Given the description of an element on the screen output the (x, y) to click on. 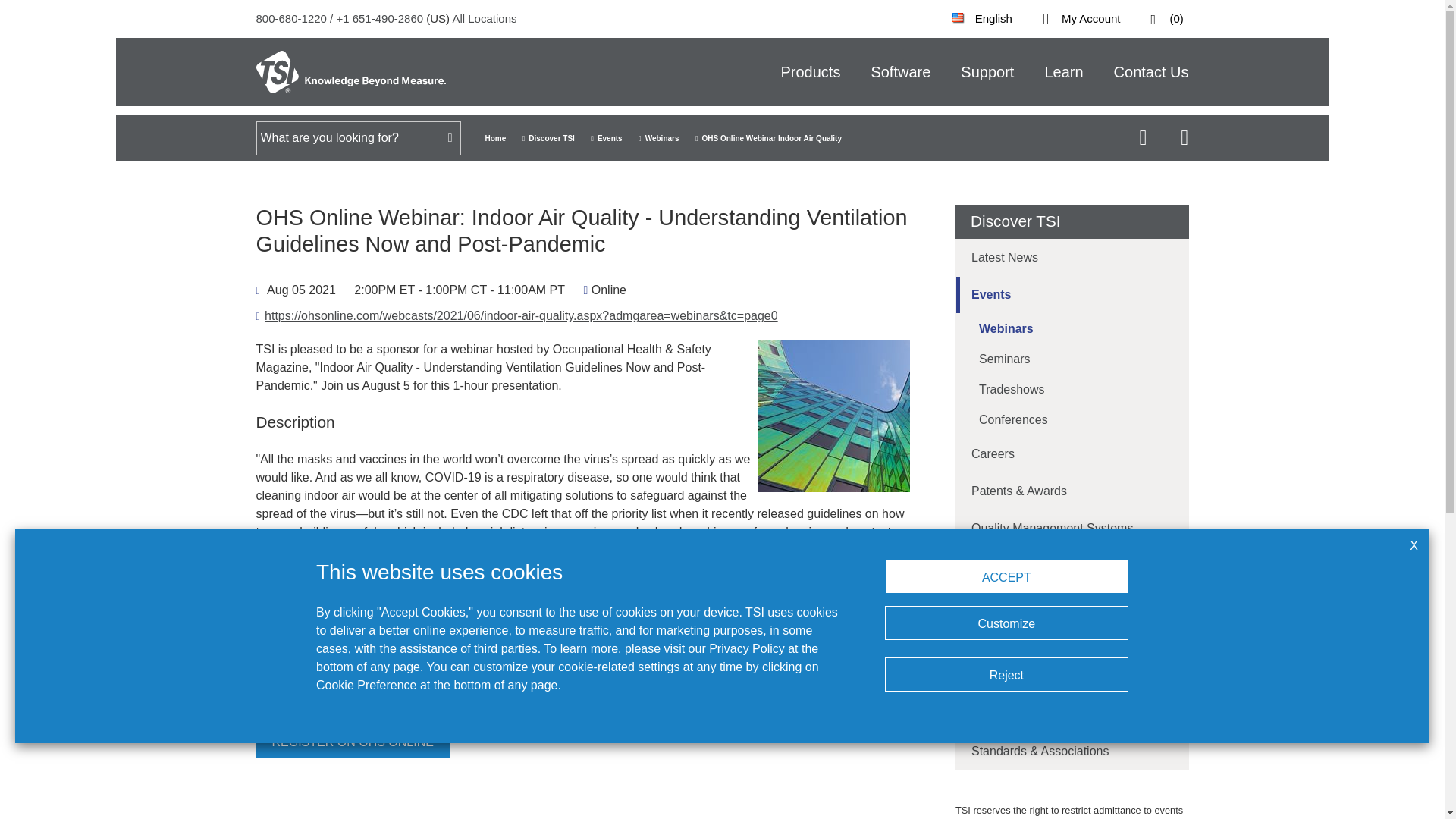
A Global Network of Experts (1072, 714)
Careers (1072, 453)
TSI's History (1072, 602)
TSI sponsoring a webinar on indoor air quality (834, 416)
Conferences (1072, 419)
Quality Management Systems (1072, 528)
Reject (1006, 674)
Tradeshows (1072, 389)
Latest News (1072, 257)
Webinars (1072, 328)
Community (1072, 677)
Mission and Vision (1072, 639)
Our Policies (1072, 565)
Events (1072, 294)
Seminars (1072, 358)
